Given the description of an element on the screen output the (x, y) to click on. 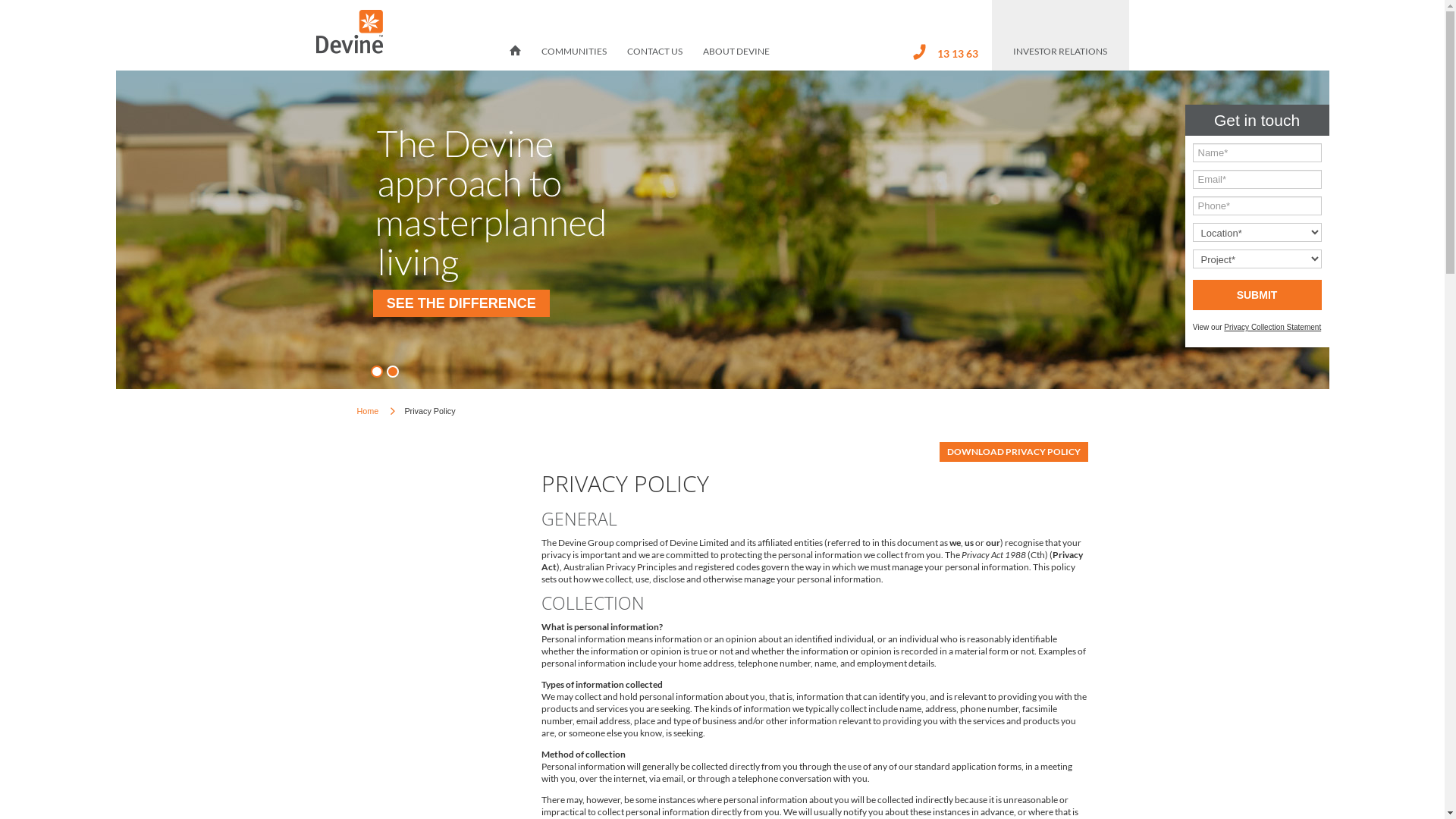
Privacy Collection Statement Element type: text (1272, 327)
CONTACT US Element type: text (654, 55)
COMMUNITIES Element type: text (573, 55)
SUBMIT Element type: text (1256, 294)
DOWNLOAD PRIVACY POLICY Element type: text (1012, 451)
ABOUT DEVINE Element type: text (735, 55)
SEE THE DIFFERENCE Element type: text (461, 302)
INVESTOR RELATIONS Element type: text (1059, 55)
Home Element type: text (367, 410)
